Given the description of an element on the screen output the (x, y) to click on. 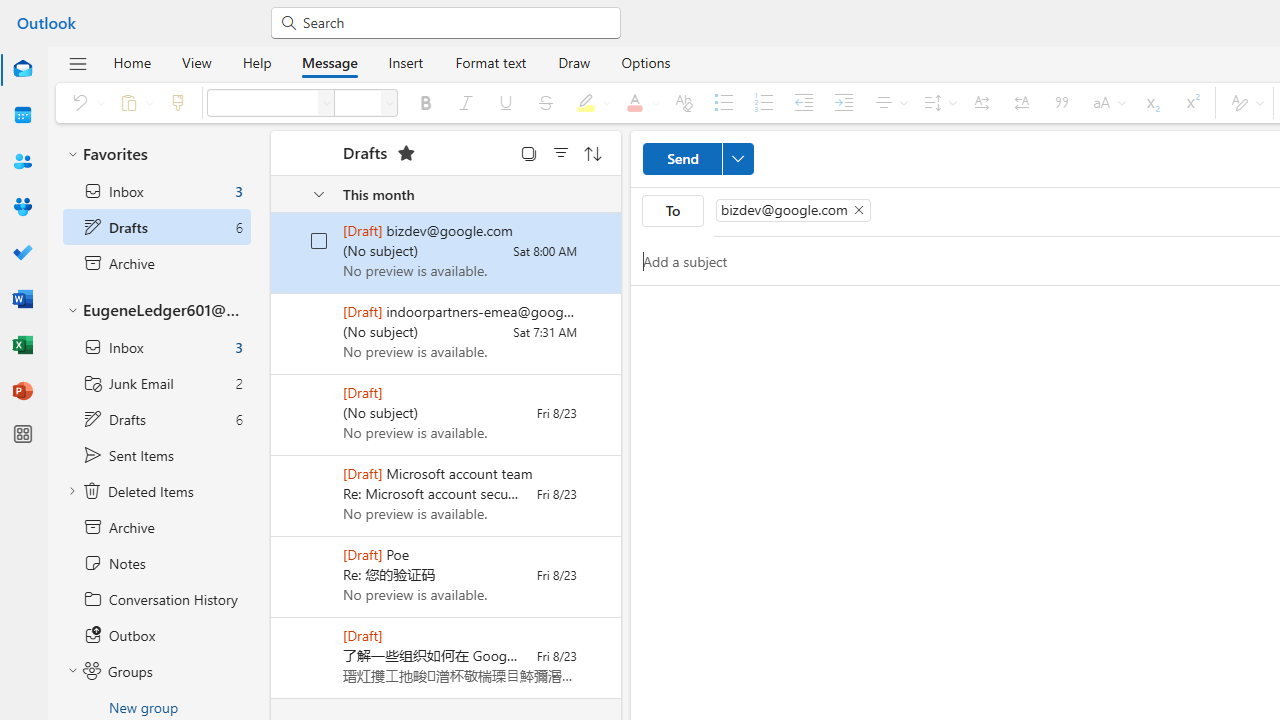
Subscript (1151, 102)
Increase indent (844, 102)
Styles (1243, 102)
System (10, 11)
To (673, 210)
EugeneLedger601@outlook.com (156, 311)
Superscript (1190, 102)
Archive (156, 527)
Spacing (937, 102)
Notes (156, 563)
Filter (561, 152)
Outbox (156, 635)
Format painter (177, 102)
bizdev@google.com (792, 209)
